Given the description of an element on the screen output the (x, y) to click on. 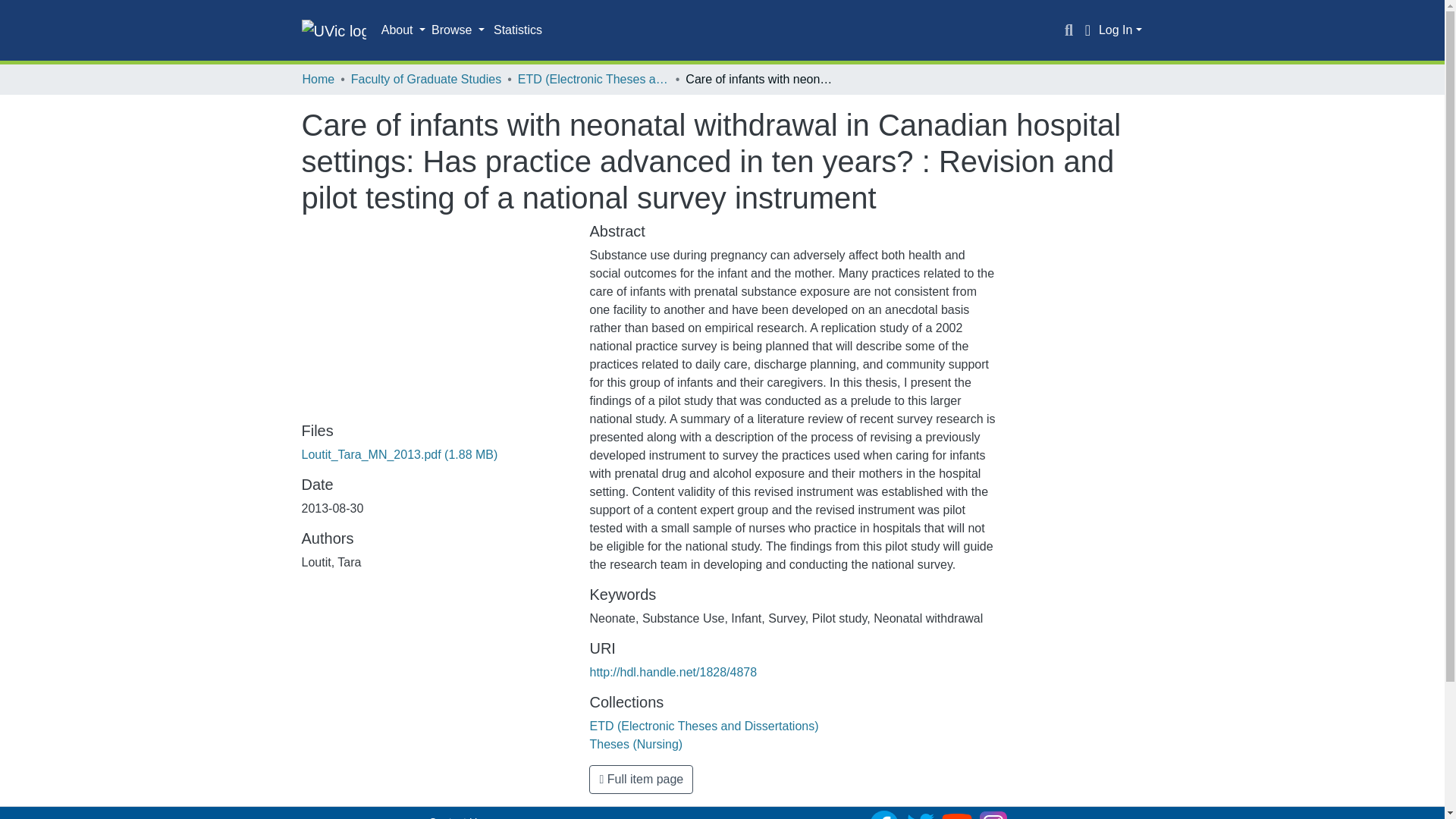
Home (317, 79)
Faculty of Graduate Studies (425, 79)
Statistics (517, 30)
Browse (457, 30)
Log In (1119, 29)
Language switch (1087, 30)
Contact Us (454, 817)
Search (1068, 30)
Full item page (641, 778)
Statistics (517, 30)
About (403, 30)
